Given the description of an element on the screen output the (x, y) to click on. 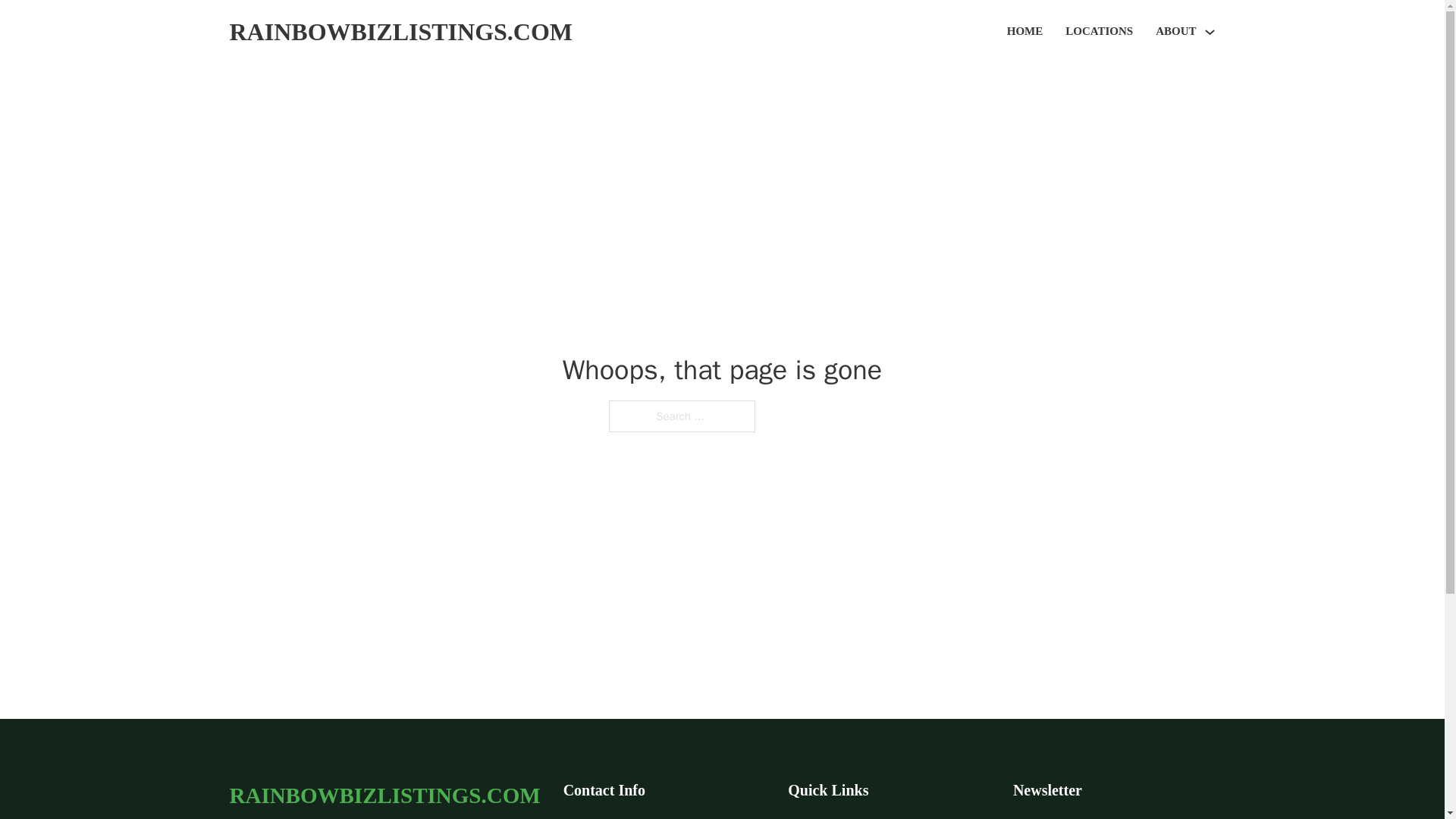
LOCATIONS (1098, 31)
HOME (1025, 31)
RAINBOWBIZLISTINGS.COM (400, 31)
RAINBOWBIZLISTINGS.COM (384, 795)
